Given the description of an element on the screen output the (x, y) to click on. 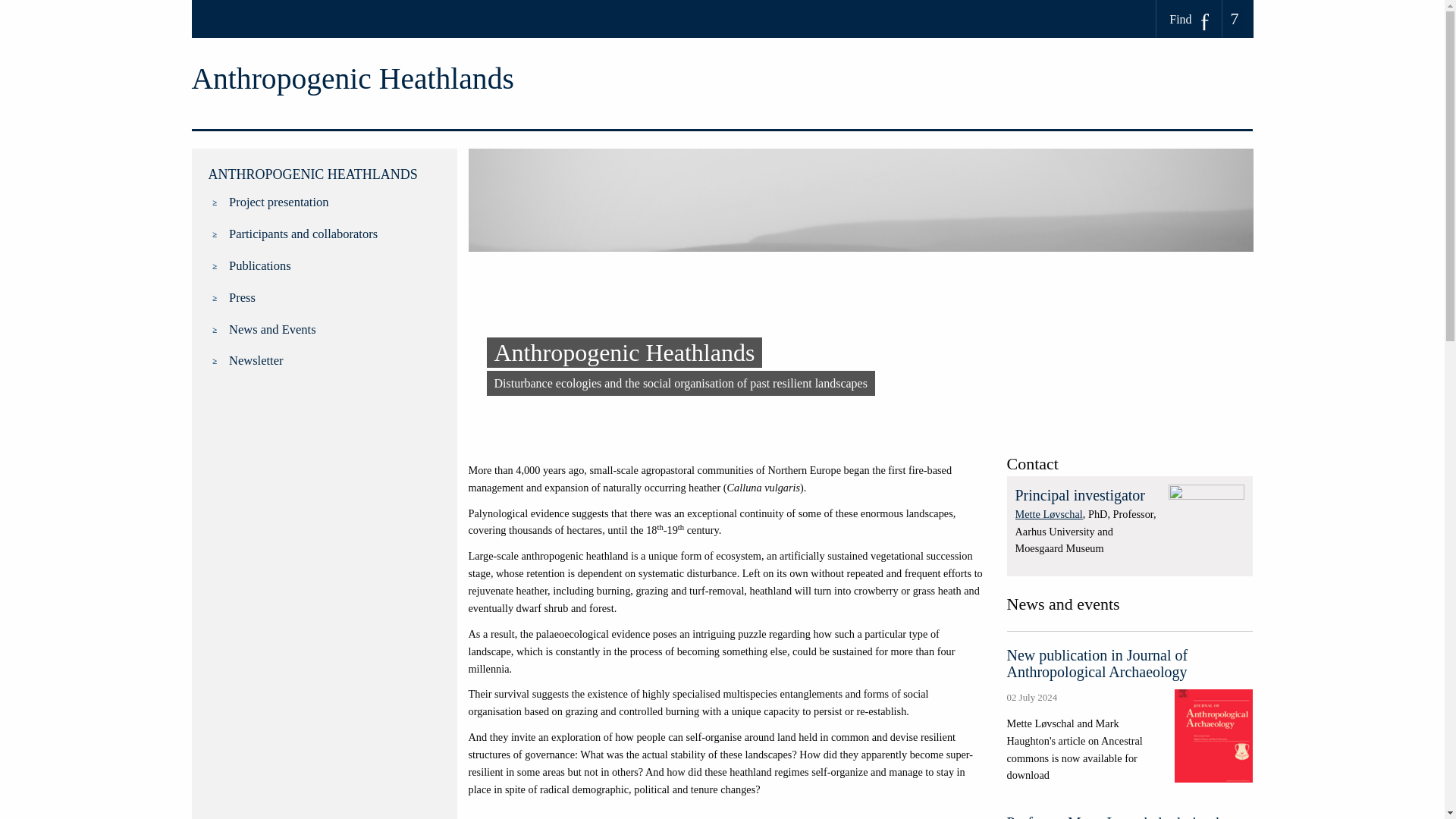
Newsletter (334, 361)
Participants and collaborators (334, 234)
Search (17, 5)
New publication in Journal of Anthropological Archaeology (1130, 715)
Anthropogenic Heathlands (351, 78)
Publications (334, 266)
Find (1189, 19)
News and Events (334, 329)
Press (334, 297)
Project presentation (334, 202)
ANTHROPOGENIC HEATHLANDS (312, 174)
